Given the description of an element on the screen output the (x, y) to click on. 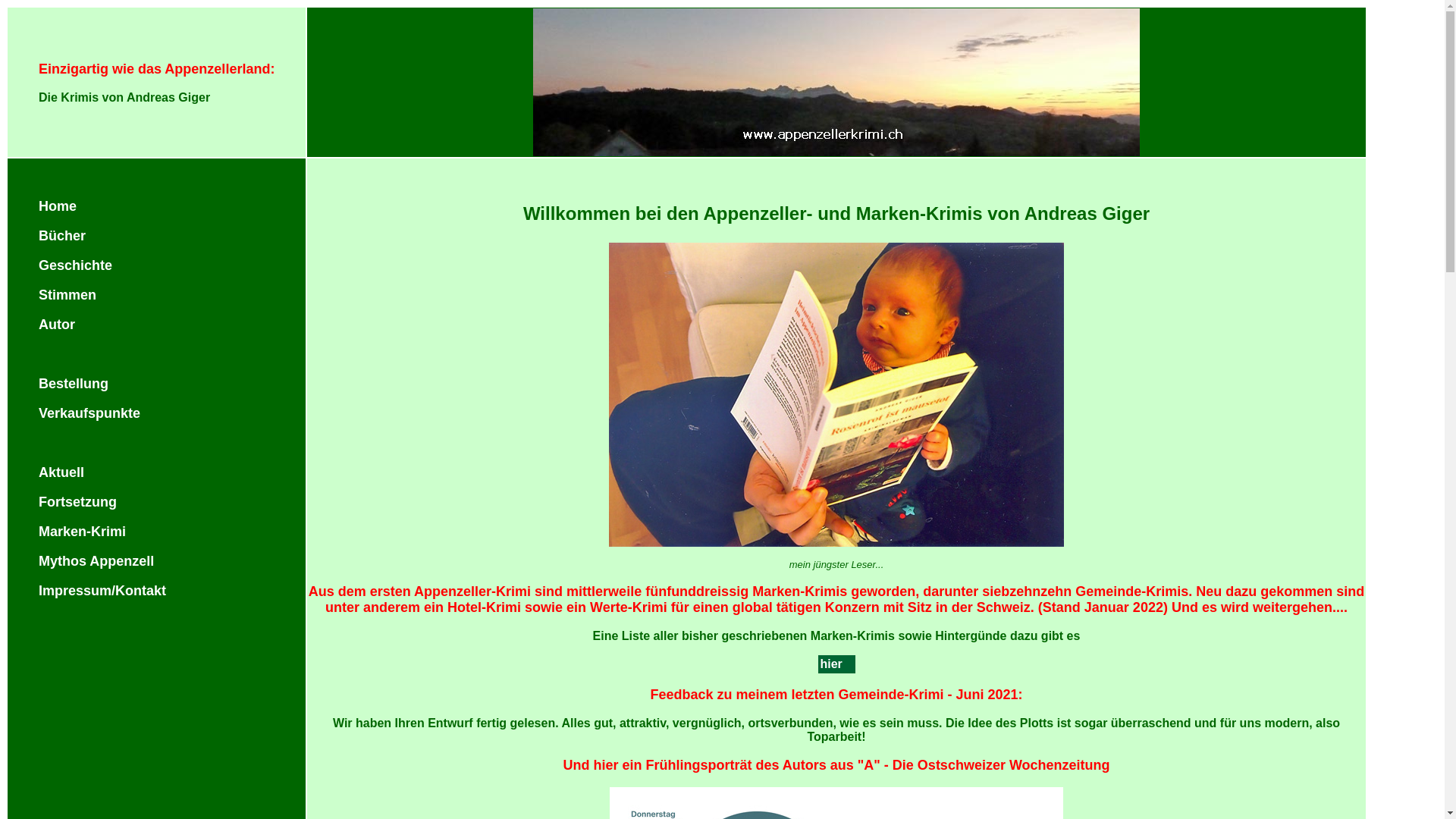
Verkaufspunkte Element type: text (89, 412)
Bestellung Element type: text (73, 383)
Marken-Krimi Element type: text (81, 531)
hier Element type: text (831, 663)
Geschichte Element type: text (75, 265)
Fortsetzung Element type: text (77, 501)
Mythos Appenzell Element type: text (95, 560)
Impressum/Kontakt Element type: text (102, 590)
Autor Element type: text (56, 324)
Aktuell Element type: text (61, 472)
Home Element type: text (57, 205)
Stimmen Element type: text (67, 294)
